Given the description of an element on the screen output the (x, y) to click on. 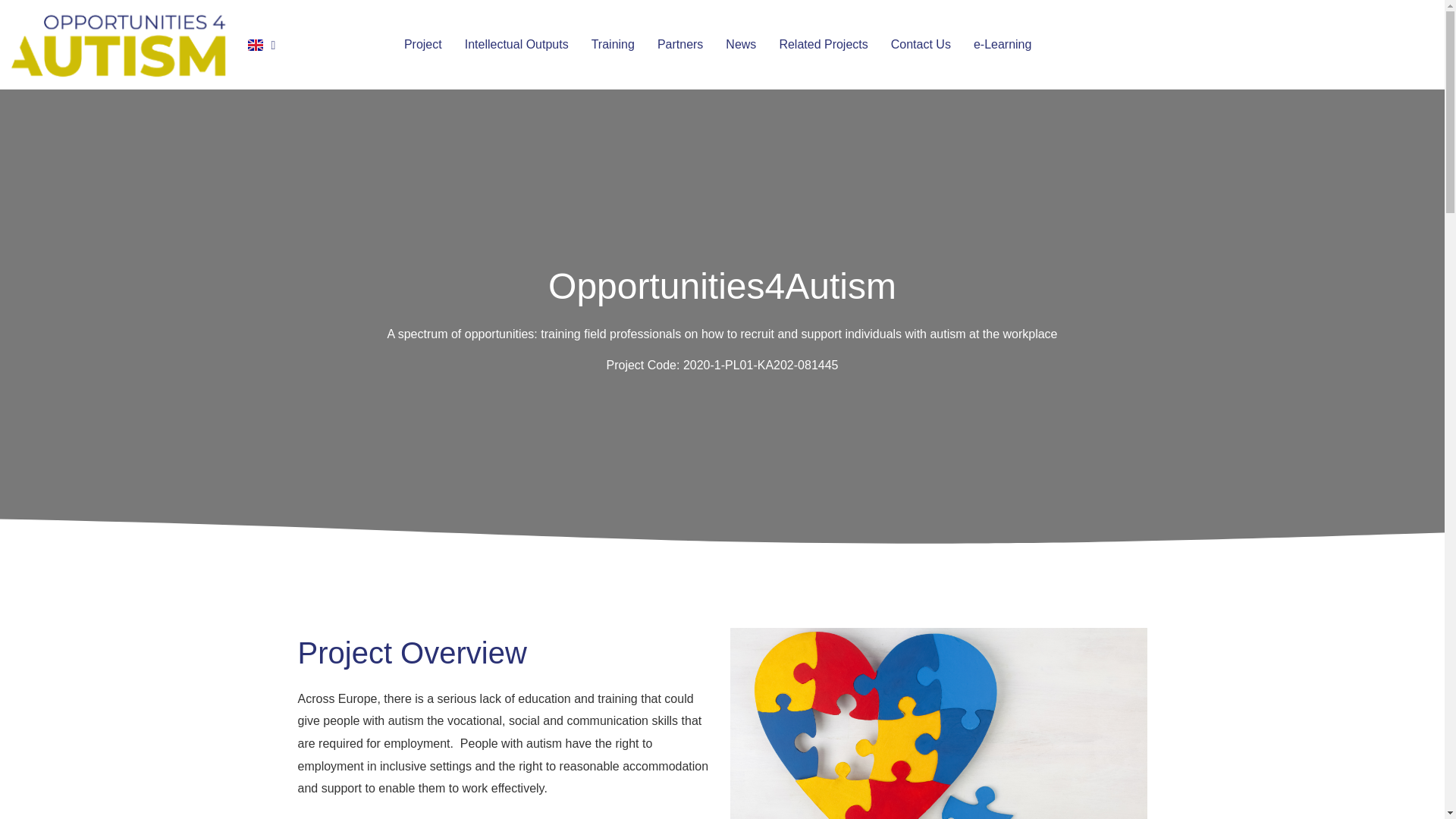
Project (422, 44)
Training (612, 44)
Contact Us (920, 44)
Intellectual Outputs (515, 44)
News (740, 44)
Related Projects (823, 44)
e-Learning (1002, 44)
Partners (680, 44)
